Given the description of an element on the screen output the (x, y) to click on. 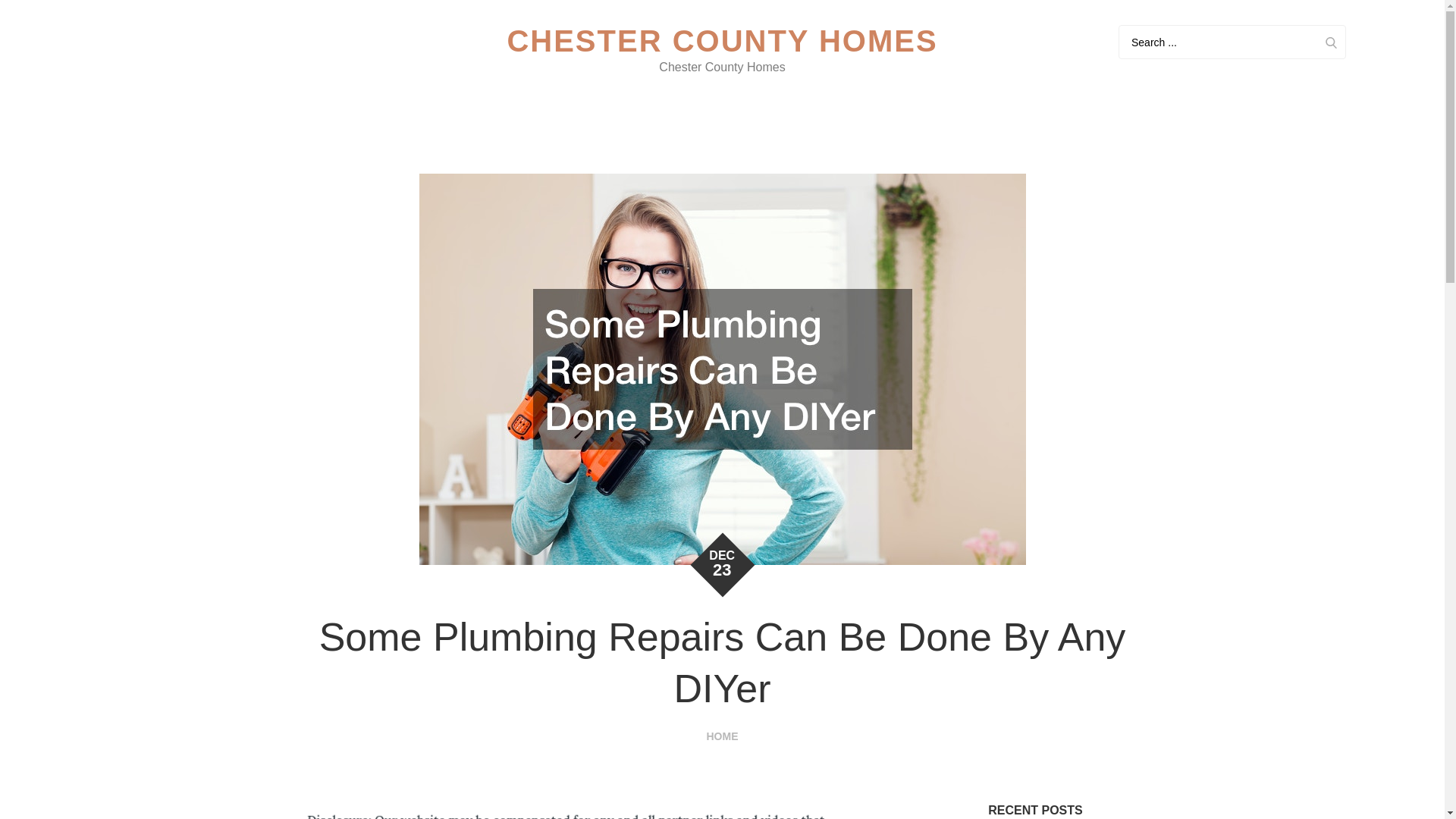
Search (1330, 41)
CHESTER COUNTY HOMES (721, 40)
Search for: (1231, 41)
HOME (722, 736)
